Given the description of an element on the screen output the (x, y) to click on. 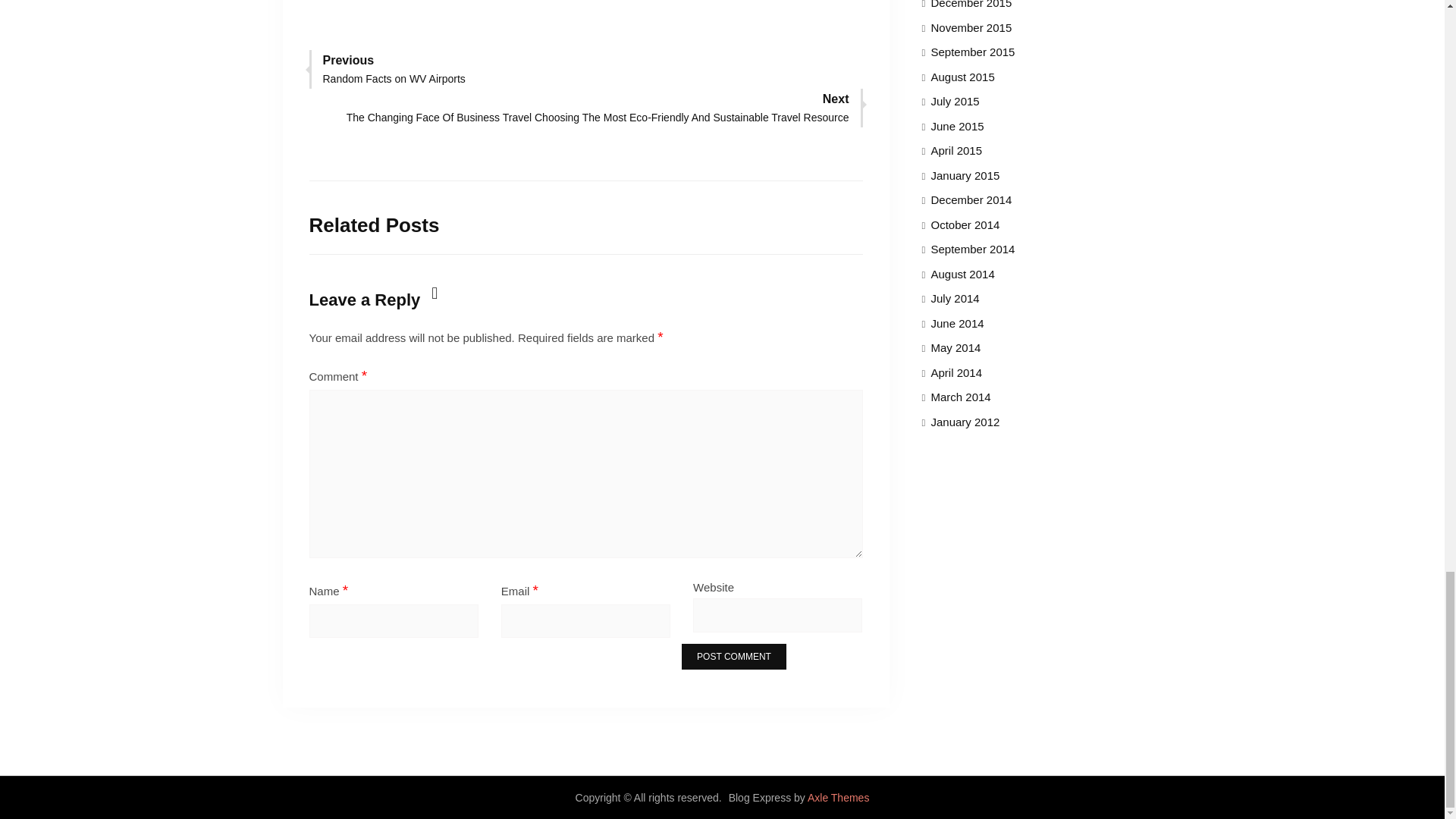
Post Comment (733, 656)
Post Comment (394, 67)
